Given the description of an element on the screen output the (x, y) to click on. 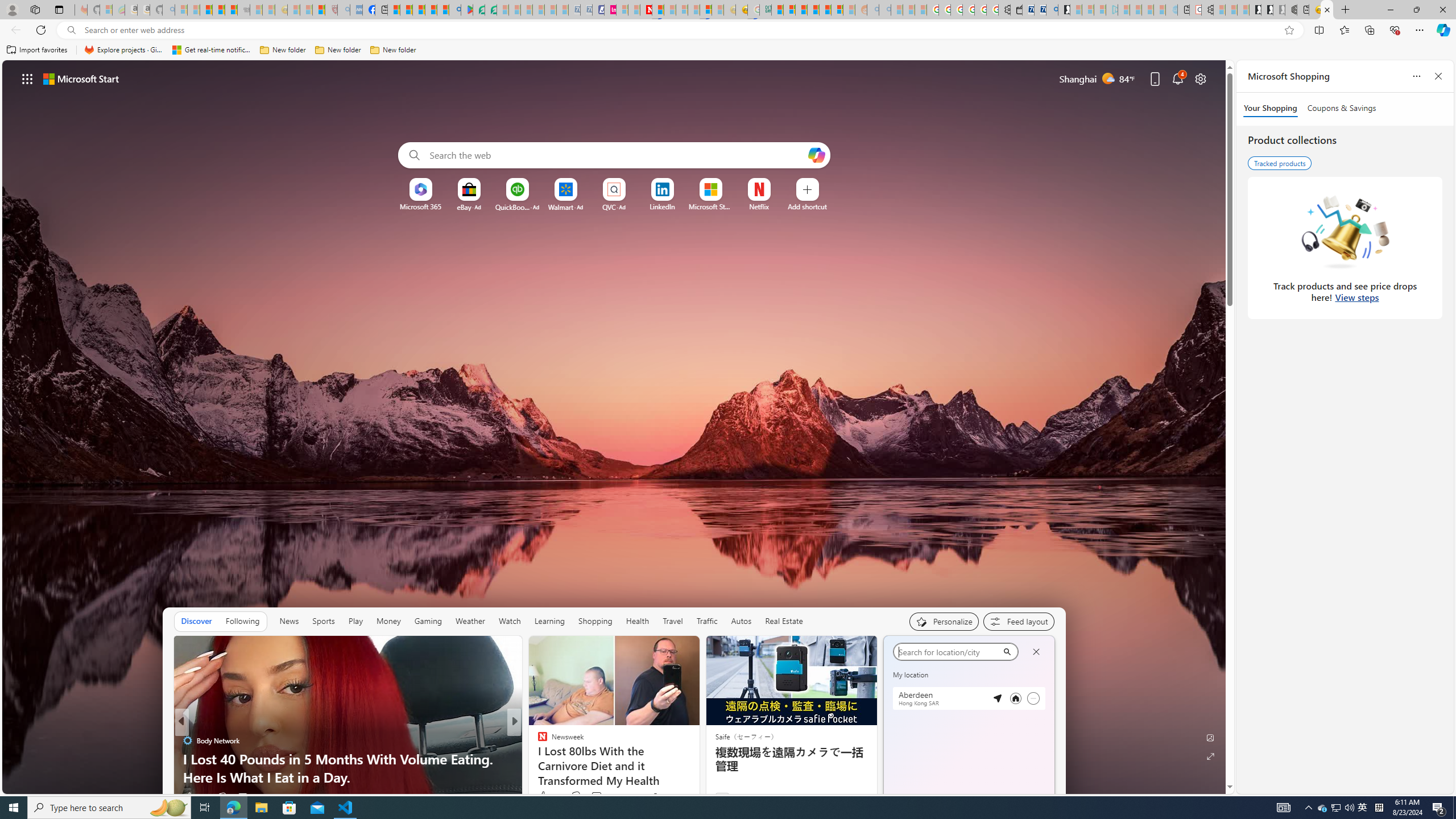
Feed settings (1018, 621)
New folder (392, 49)
Add a site (807, 206)
You're following Newsweek (670, 795)
